Given the description of an element on the screen output the (x, y) to click on. 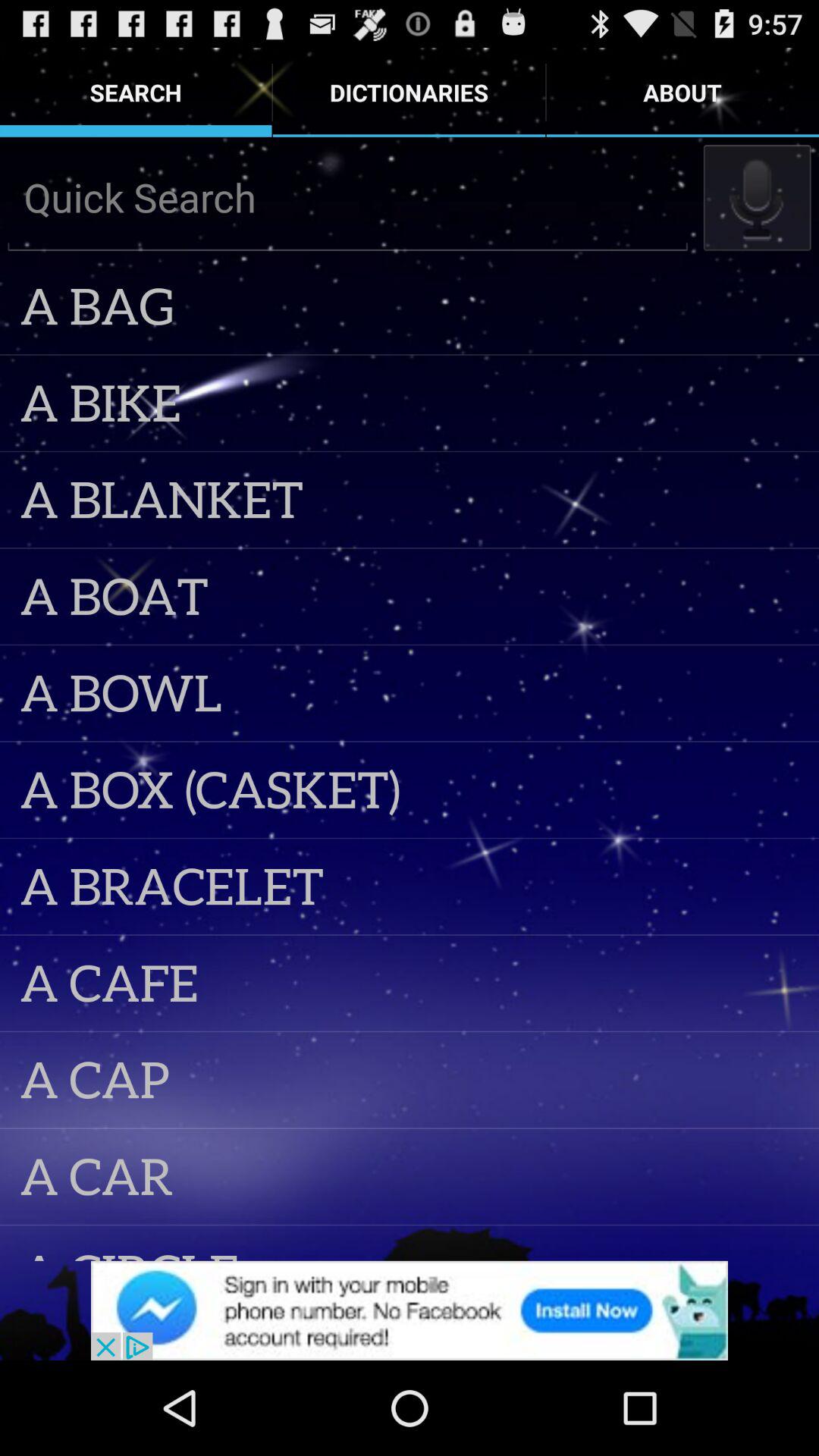
screen page (409, 1310)
